Given the description of an element on the screen output the (x, y) to click on. 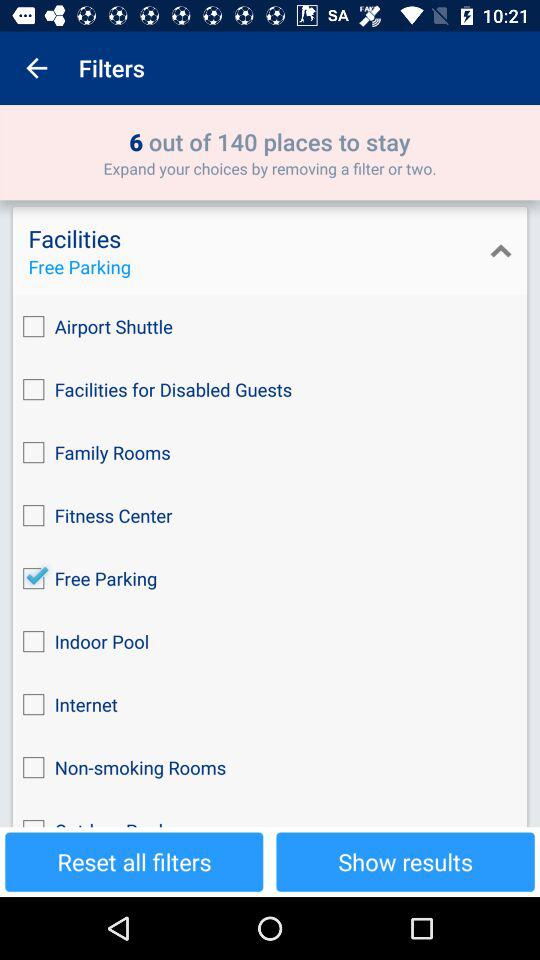
launch the checkbox below the non-smoking rooms icon (269, 813)
